Given the description of an element on the screen output the (x, y) to click on. 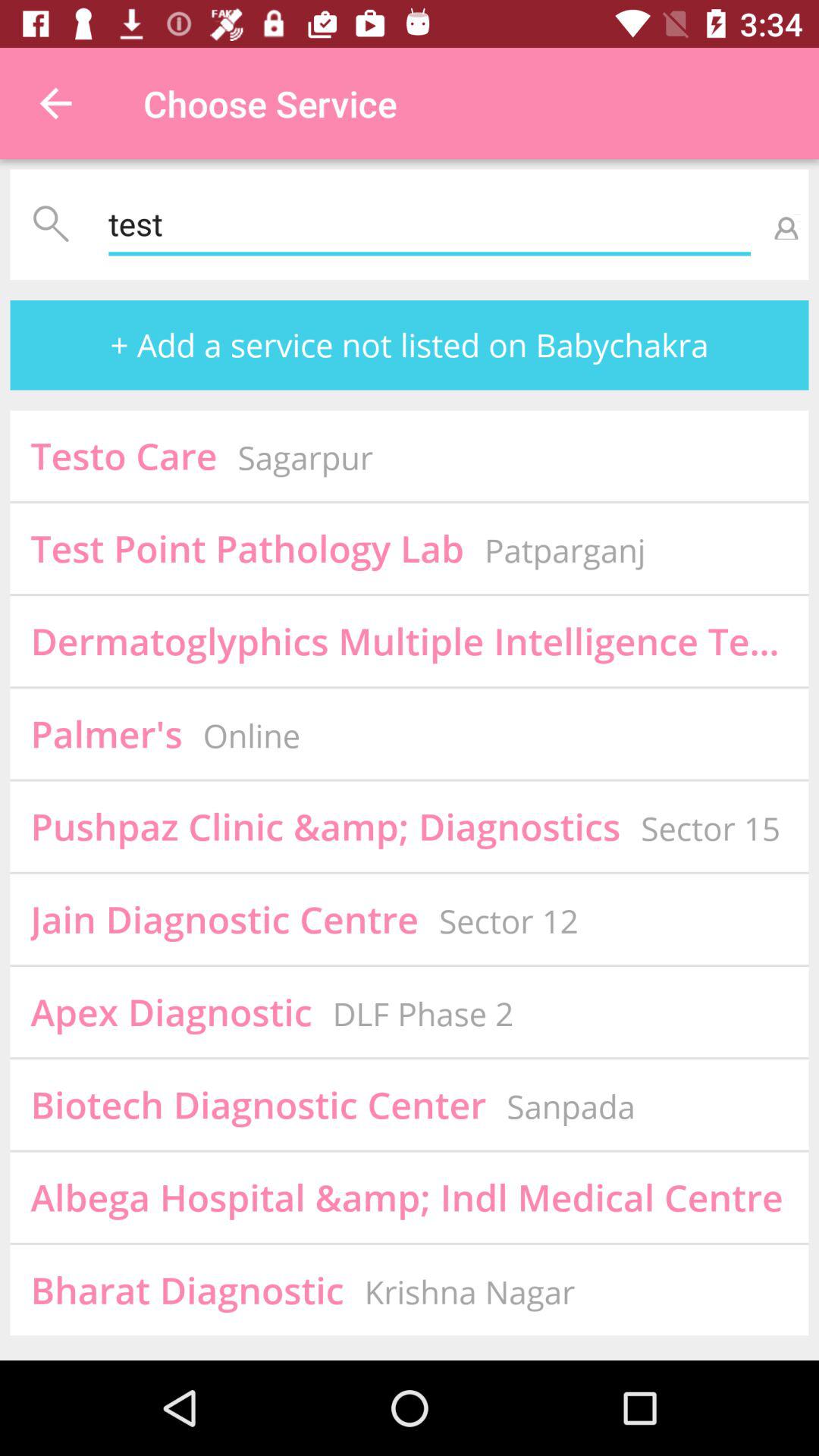
tap icon to the right of palmer's icon (251, 735)
